Given the description of an element on the screen output the (x, y) to click on. 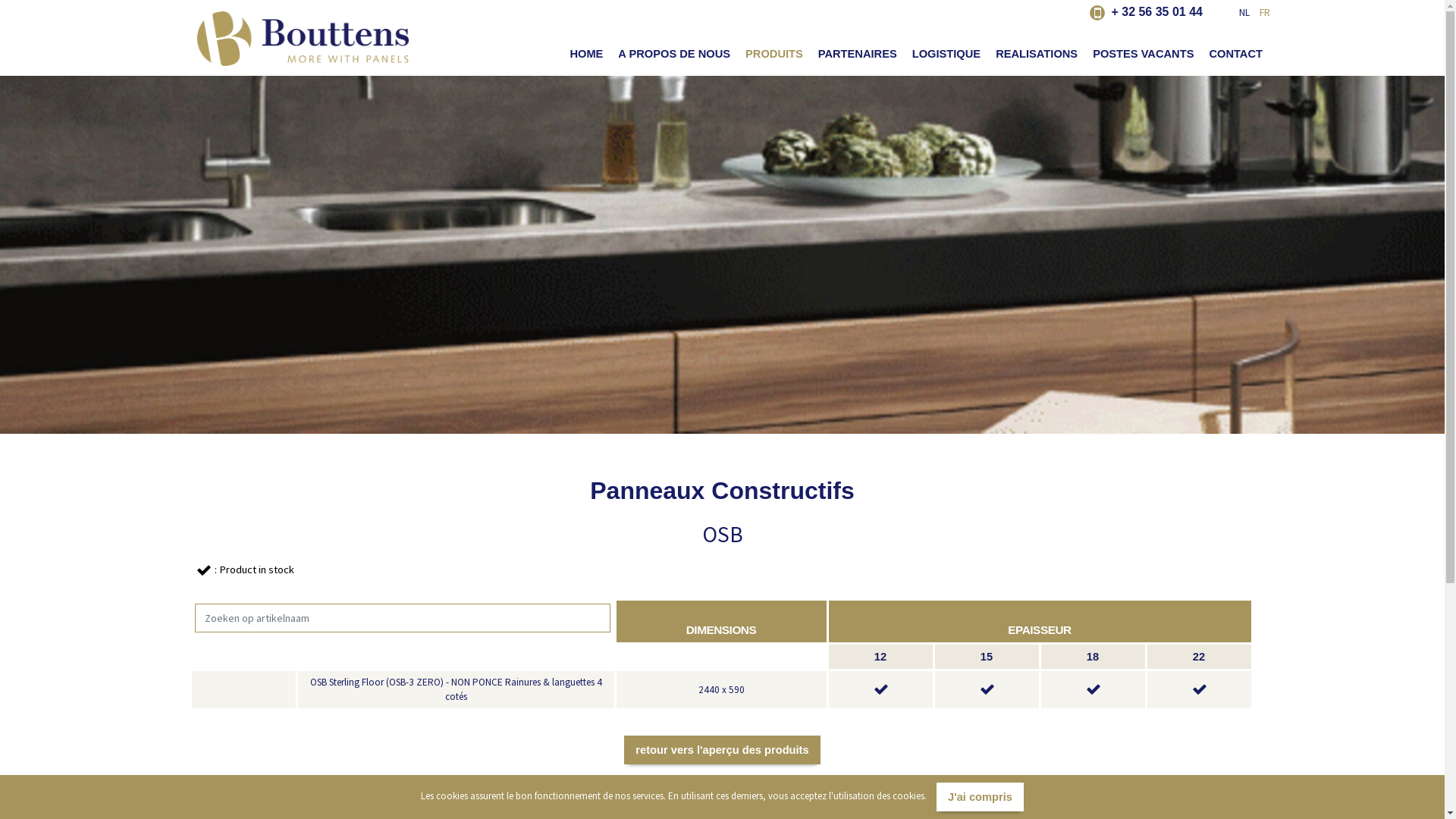
PARTENAIRES Element type: text (857, 53)
POSTES VACANTS Element type: text (1143, 53)
A PROPOS DE NOUS Element type: text (673, 53)
CONTACT Element type: text (1235, 53)
LOGISTIQUE Element type: text (946, 53)
FR Element type: text (1261, 12)
PRODUITS Element type: text (773, 53)
+ 32 56 35 01 44 Element type: text (1145, 11)
NL Element type: text (1240, 12)
HOME Element type: text (585, 53)
REALISATIONS Element type: text (1036, 53)
